Given the description of an element on the screen output the (x, y) to click on. 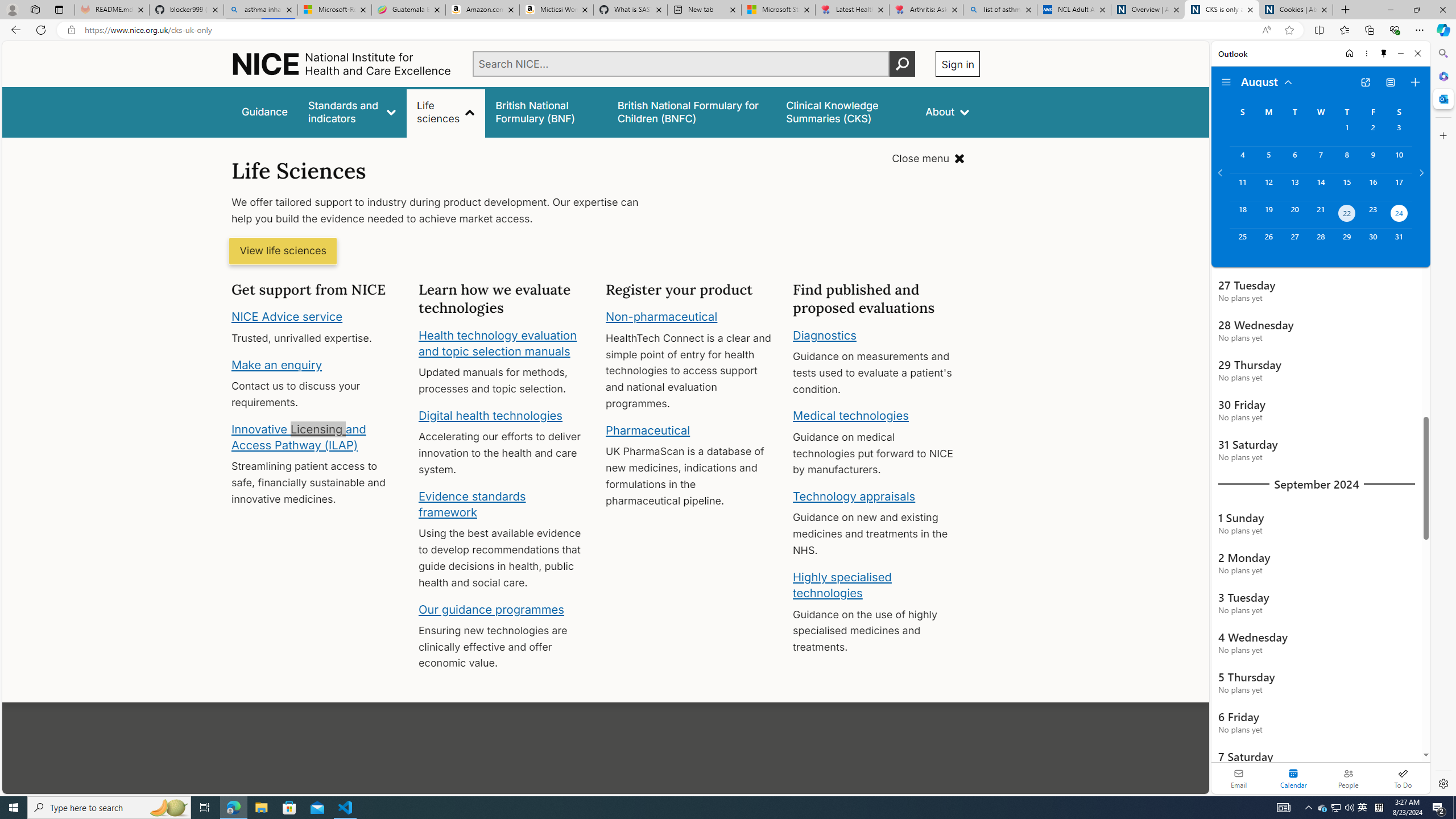
Medical technologies (850, 415)
Sunday, August 18, 2024.  (1242, 214)
People (1347, 777)
Saturday, August 24, 2024. Date selected.  (1399, 214)
Digital health technologies (490, 414)
Cookies | About | NICE (1295, 9)
Wednesday, August 7, 2024.  (1320, 159)
